Given the description of an element on the screen output the (x, y) to click on. 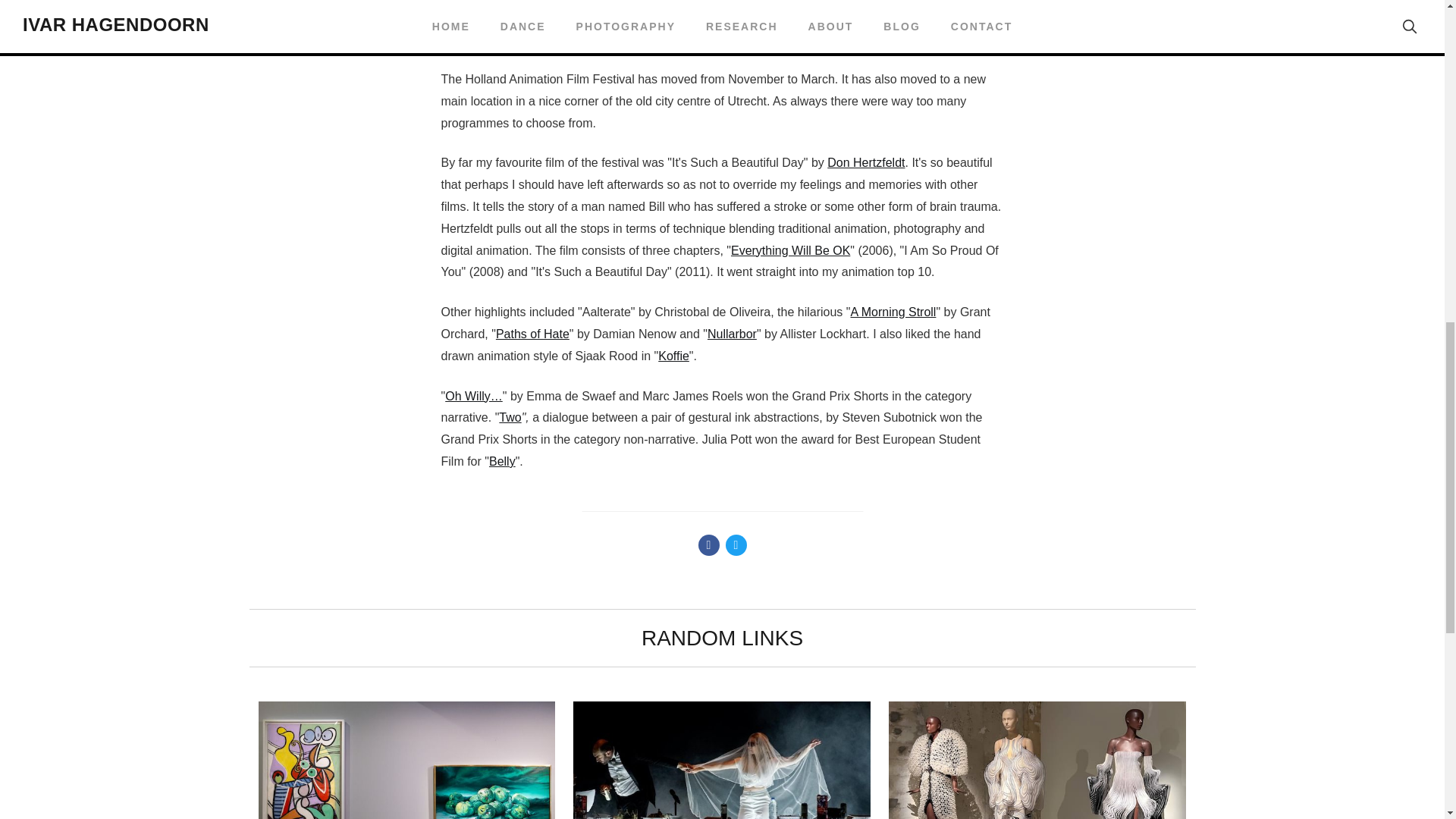
Koffie (673, 355)
Don Hertzfeldt (865, 162)
Nullarbor (732, 333)
Paths of Hate (532, 333)
Belly (502, 461)
Everything Will Be OK (790, 250)
A Morning Stroll (893, 311)
Two (510, 417)
